Given the description of an element on the screen output the (x, y) to click on. 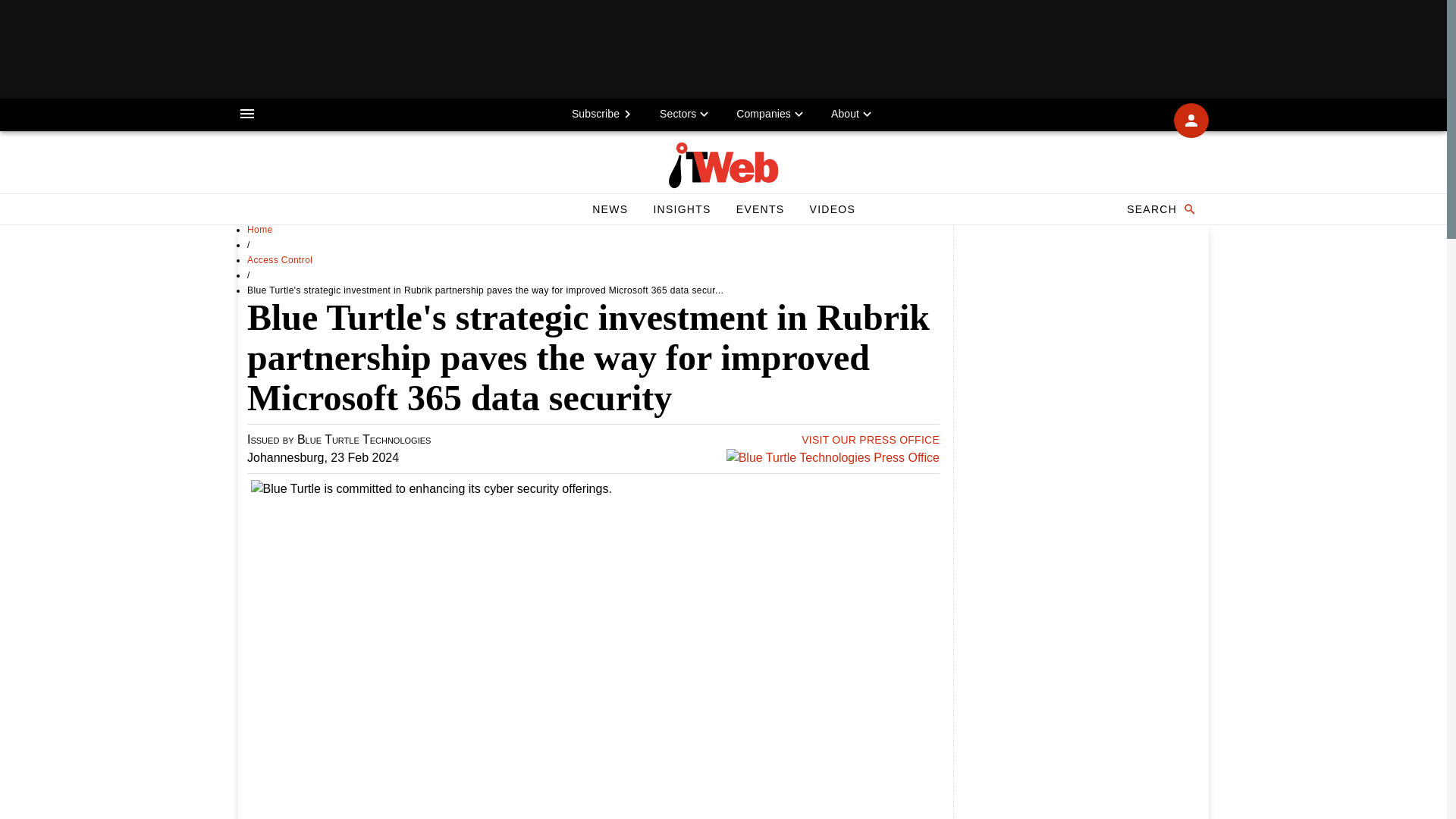
NEWS (609, 208)
INSIGHTS (681, 208)
Home (260, 229)
SEARCH (1160, 209)
Access Control (280, 259)
Subscribe (603, 113)
EVENTS (759, 208)
VIDEOS (831, 208)
VISIT OUR PRESS OFFICE (870, 439)
